Given the description of an element on the screen output the (x, y) to click on. 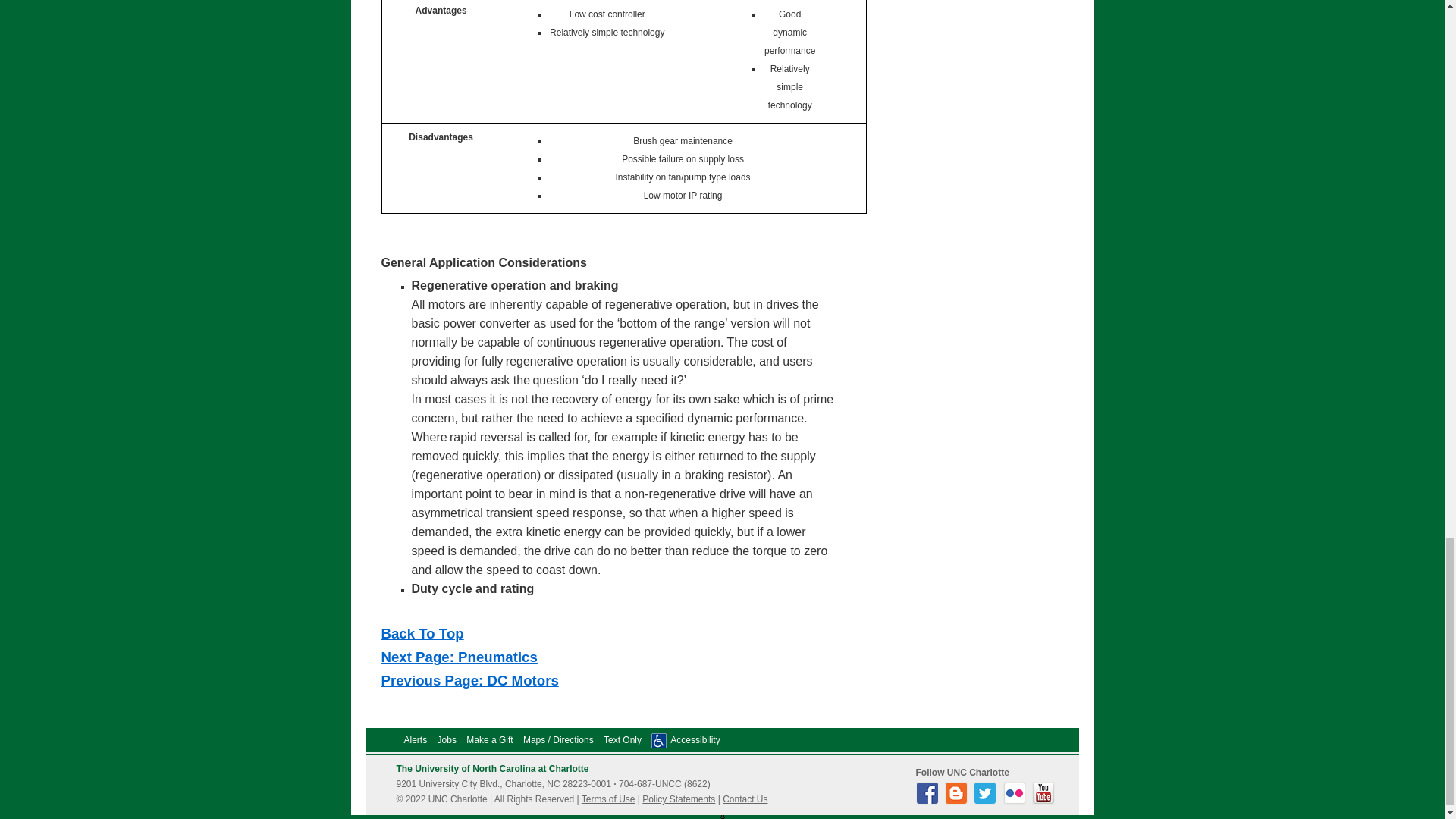
Make a gift to UNC Charlotte (488, 739)
Facebook (928, 801)
Blogger (957, 801)
Jobs at UNC Charlotte (447, 739)
YouTube (1045, 801)
Accessibility resources at UNC Charlotte (694, 739)
Flickr (1016, 801)
View this page as text only (623, 739)
Directions to UNC Charlotte (558, 739)
Alerts and Advisories at UNC Charlotte (414, 739)
charlotte.edu (492, 768)
Twitter (987, 801)
